Given the description of an element on the screen output the (x, y) to click on. 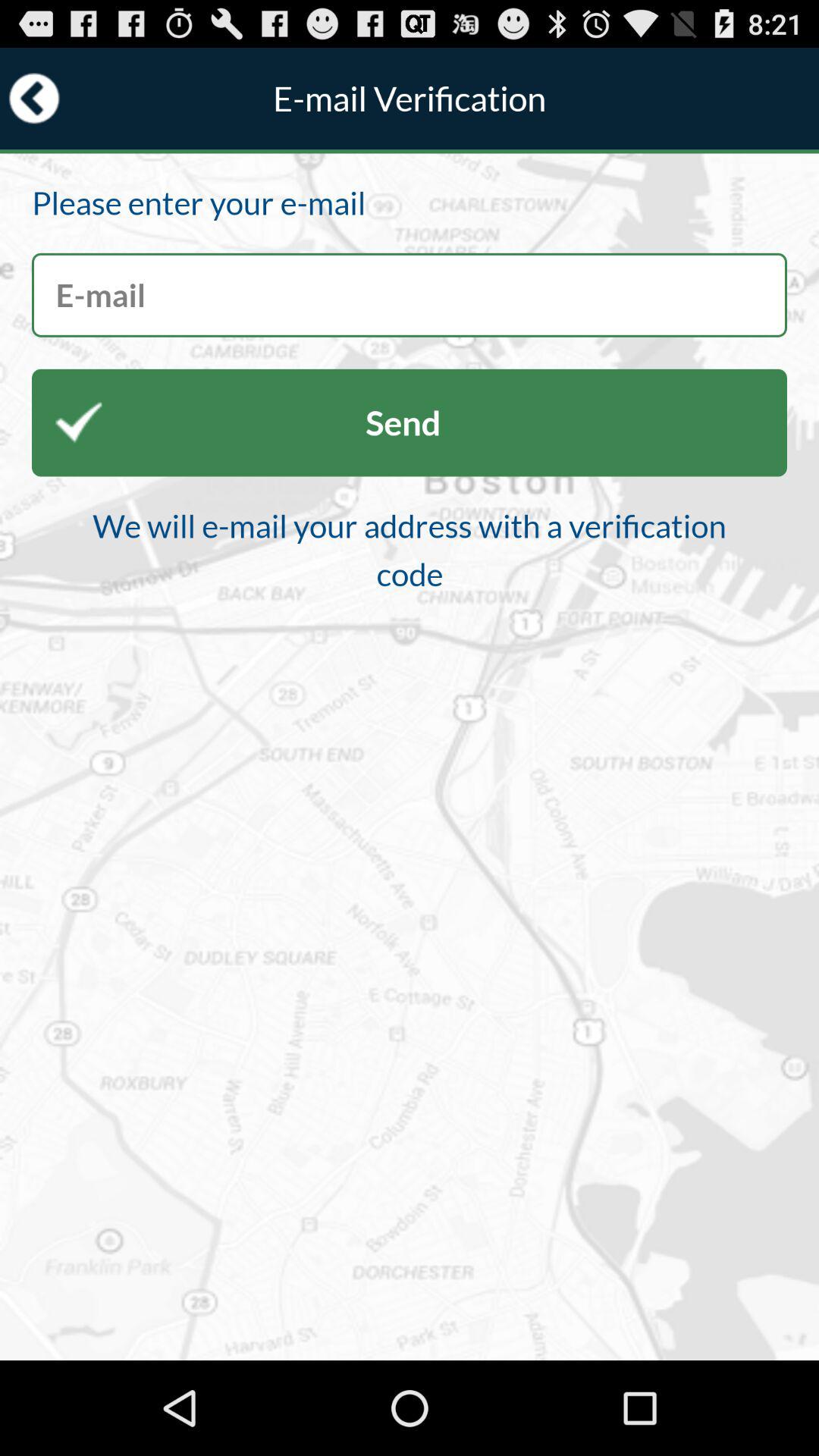
screen button (409, 295)
